Given the description of an element on the screen output the (x, y) to click on. 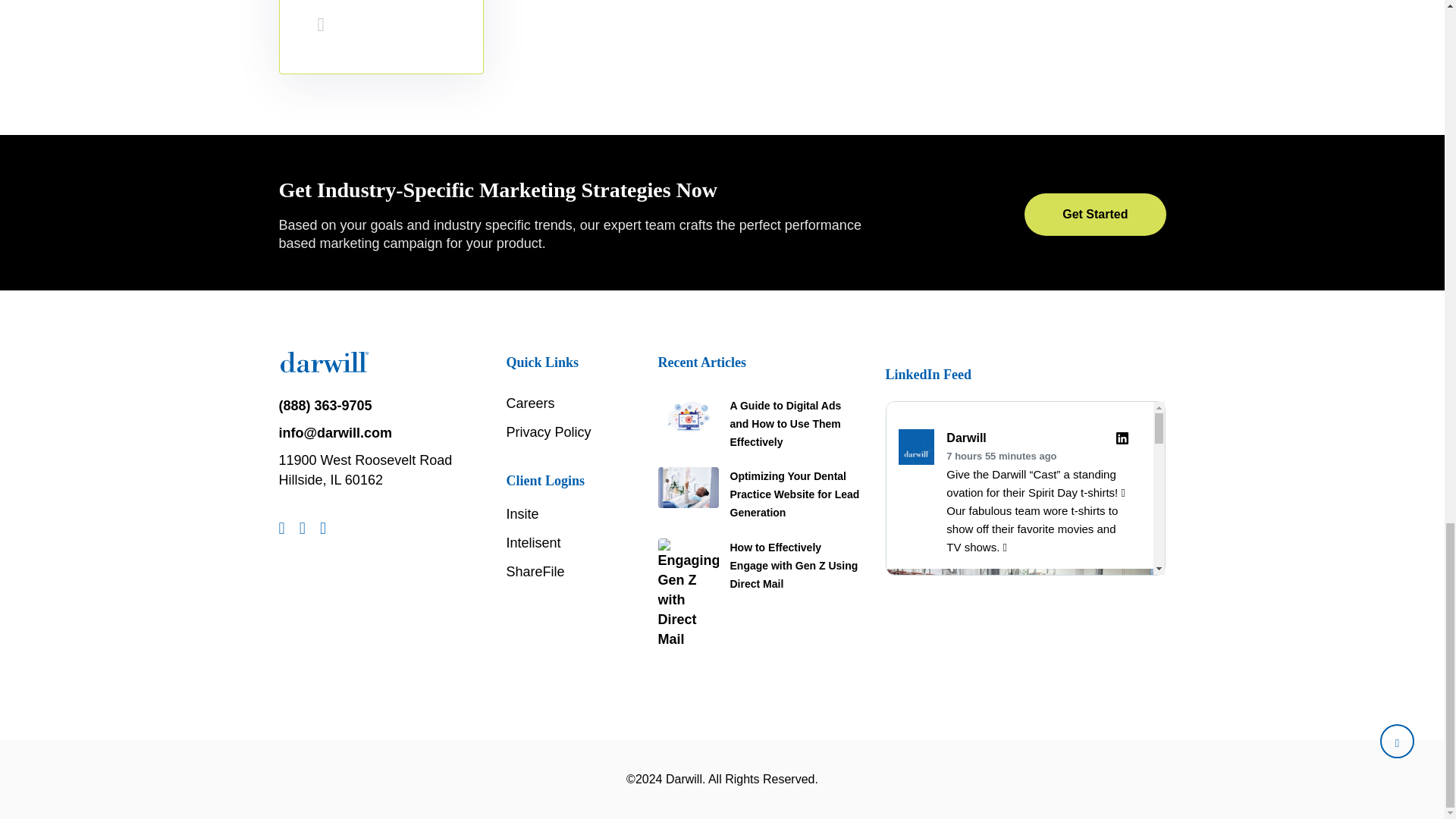
Recent Articles (701, 362)
